Given the description of an element on the screen output the (x, y) to click on. 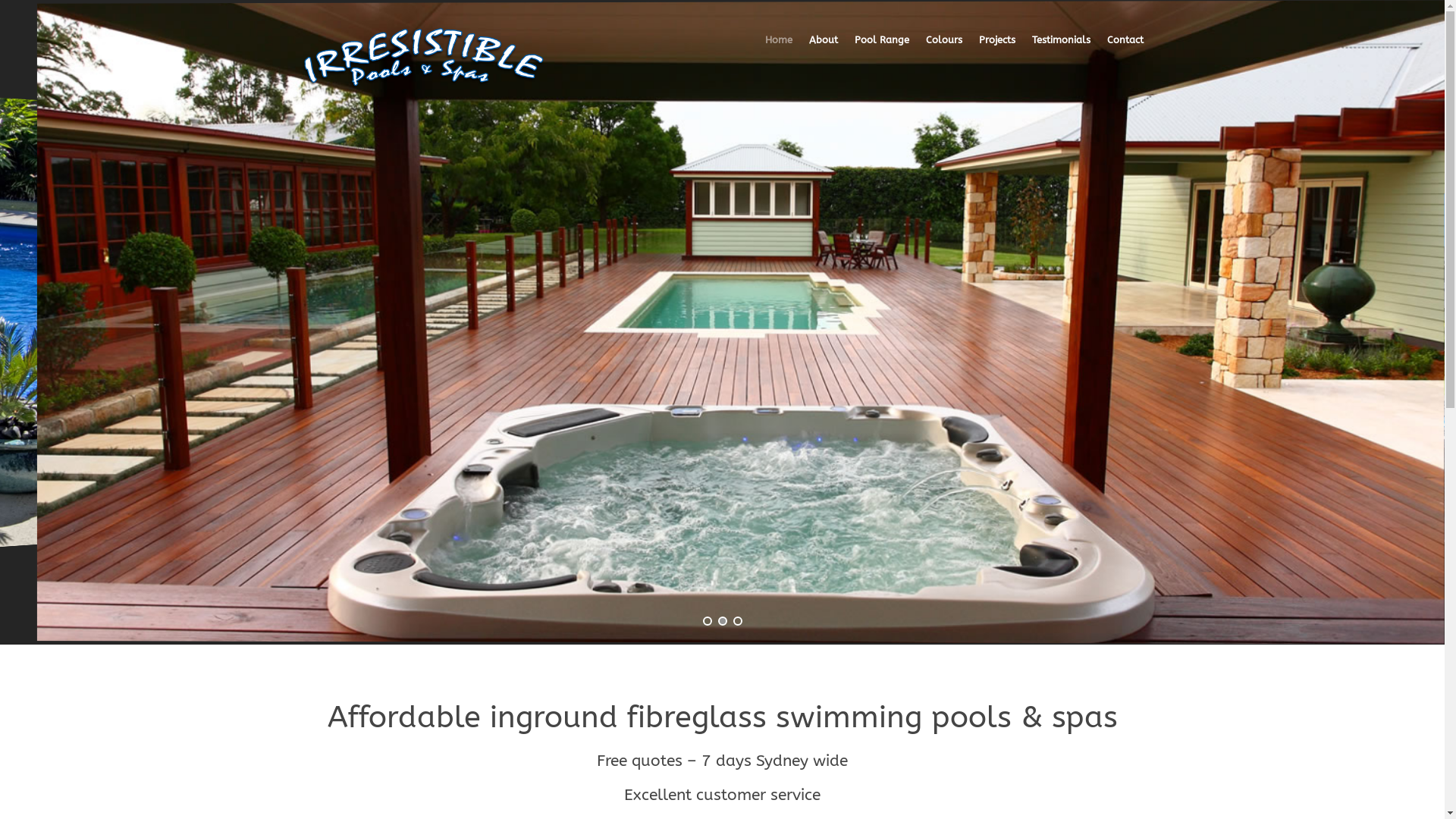
Testimonials Element type: text (1051, 51)
Pool Range Element type: text (872, 51)
Projects Element type: text (987, 51)
About Element type: text (814, 51)
Contact Element type: text (1116, 51)
Home Element type: text (777, 51)
Colours Element type: text (934, 51)
